Given the description of an element on the screen output the (x, y) to click on. 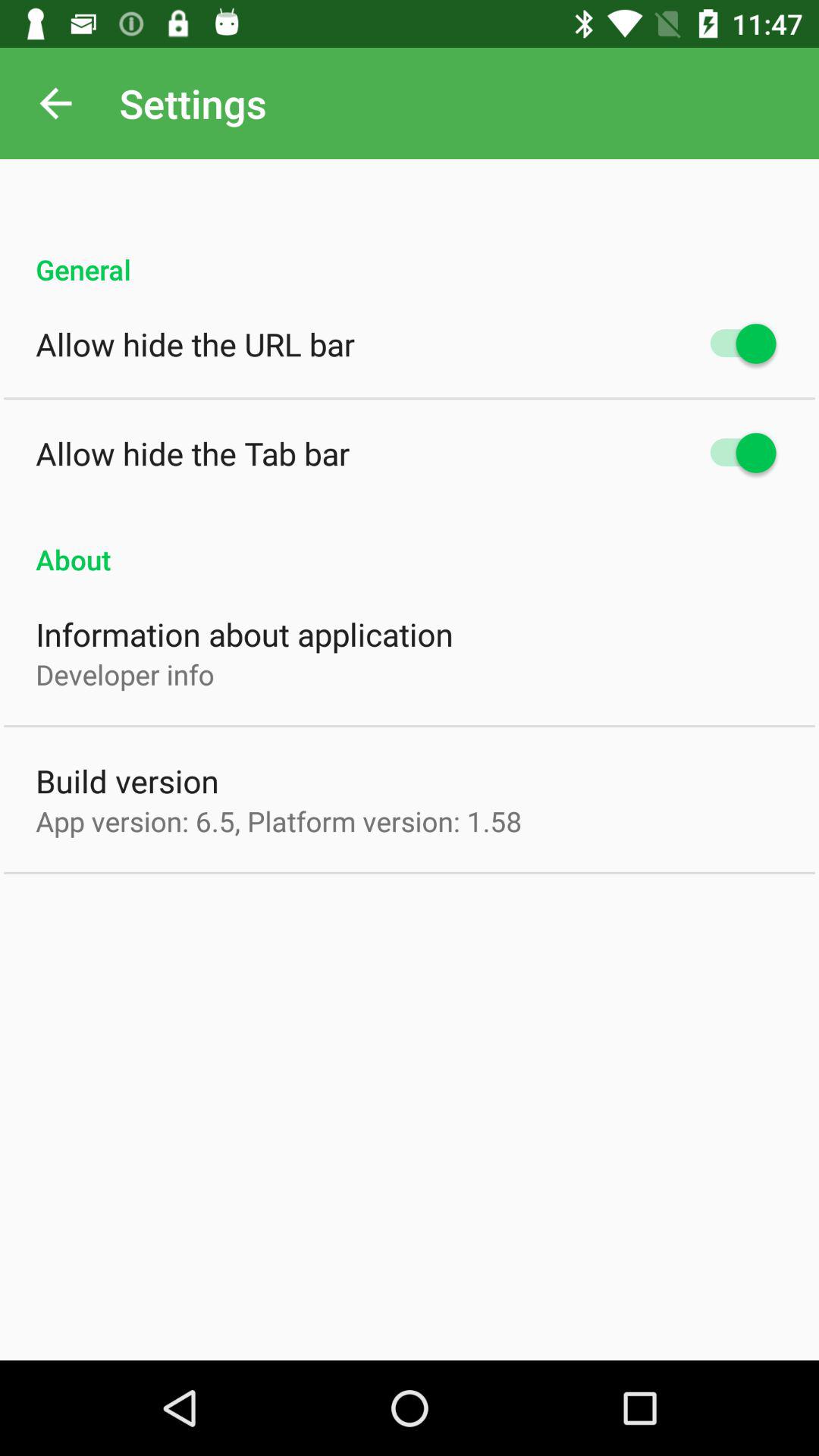
turn on app next to the settings item (55, 103)
